Given the description of an element on the screen output the (x, y) to click on. 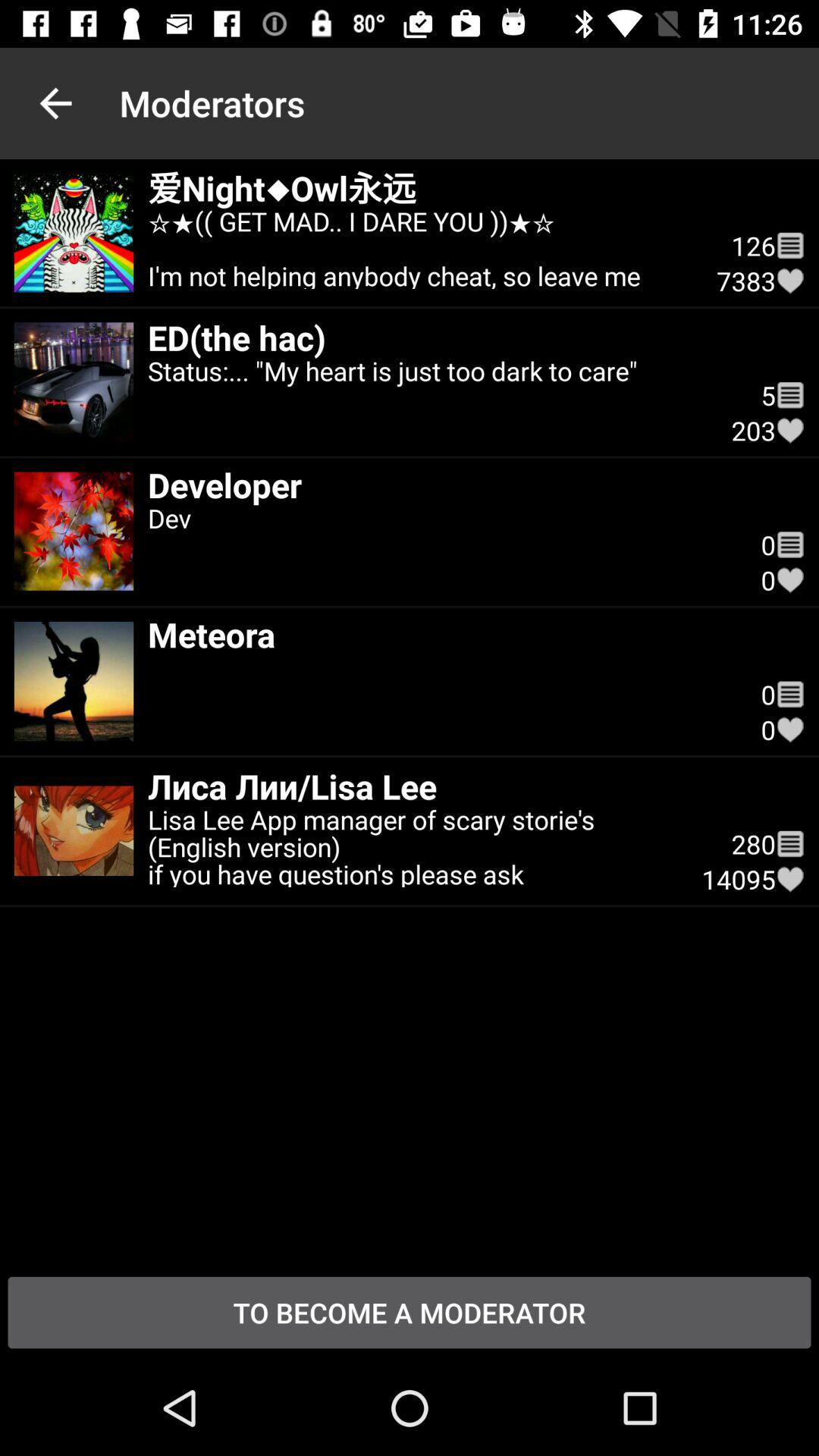
select the icon above 7383 (789, 245)
